Given the description of an element on the screen output the (x, y) to click on. 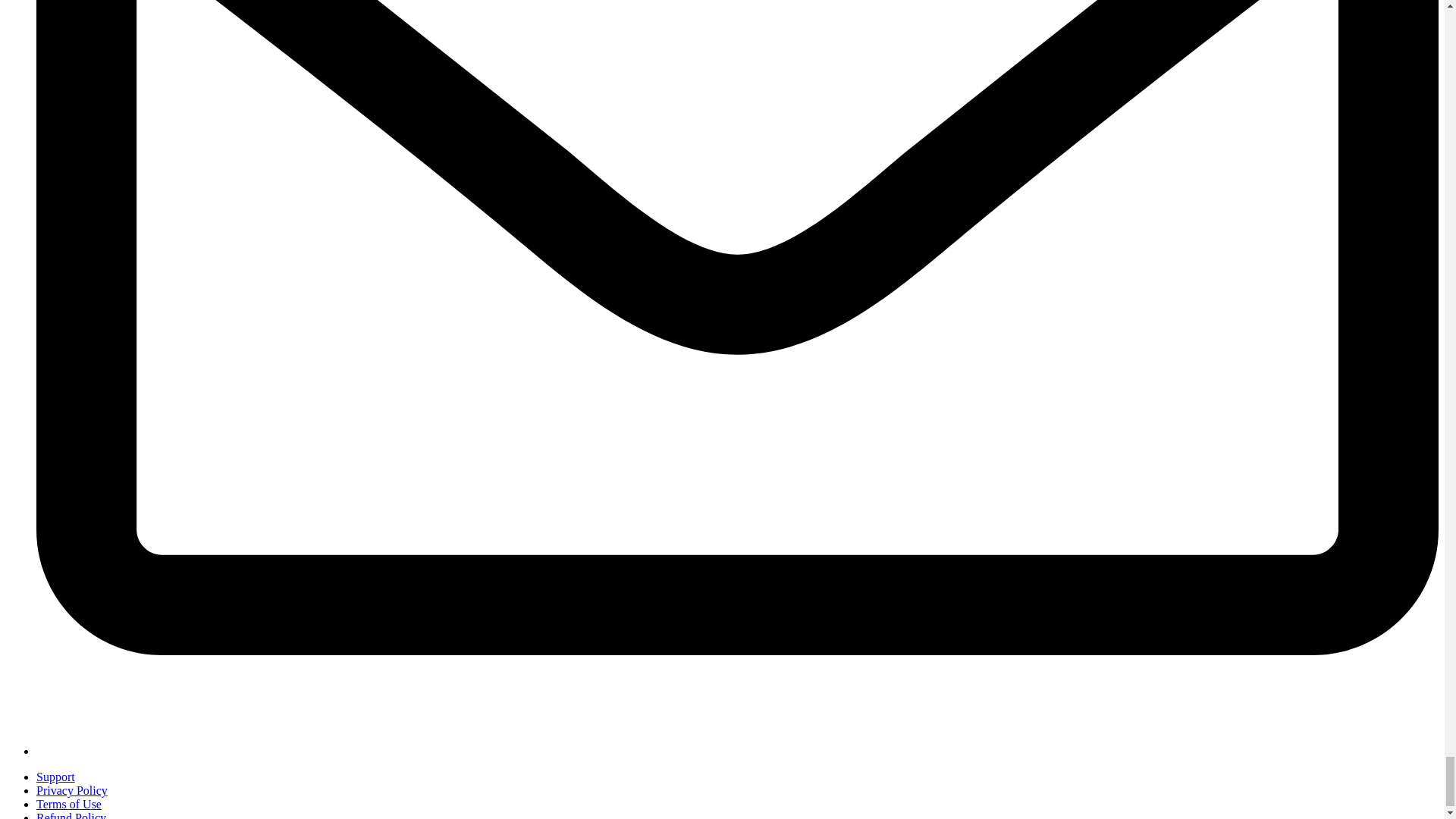
Terms of Use (68, 803)
Support (55, 776)
Privacy Policy (71, 789)
